Given the description of an element on the screen output the (x, y) to click on. 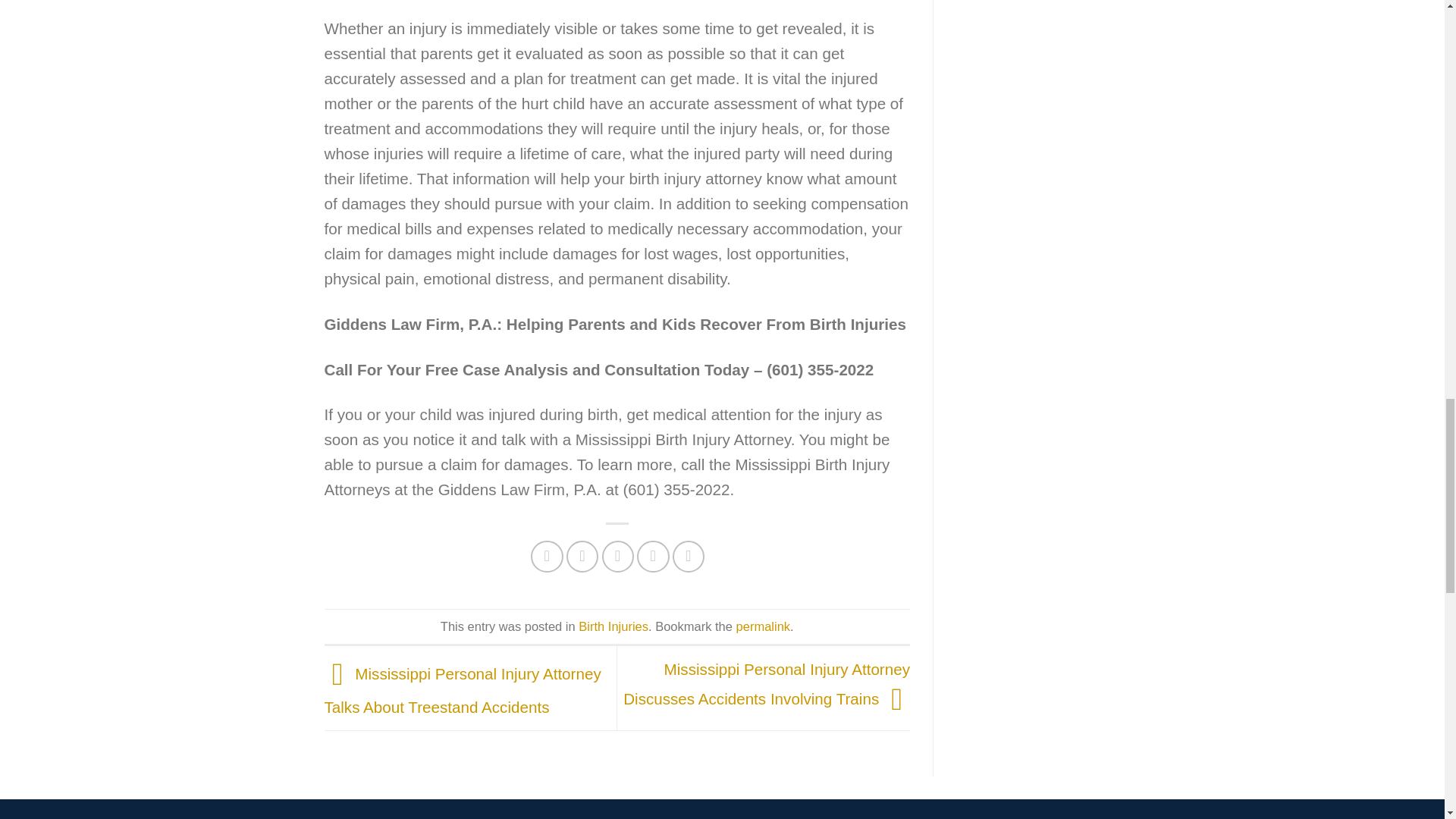
Share on Twitter (582, 556)
Email to a Friend (618, 556)
Birth Injuries (612, 626)
Pin on Pinterest (653, 556)
Share on LinkedIn (688, 556)
Share on Facebook (547, 556)
permalink (763, 626)
